Given the description of an element on the screen output the (x, y) to click on. 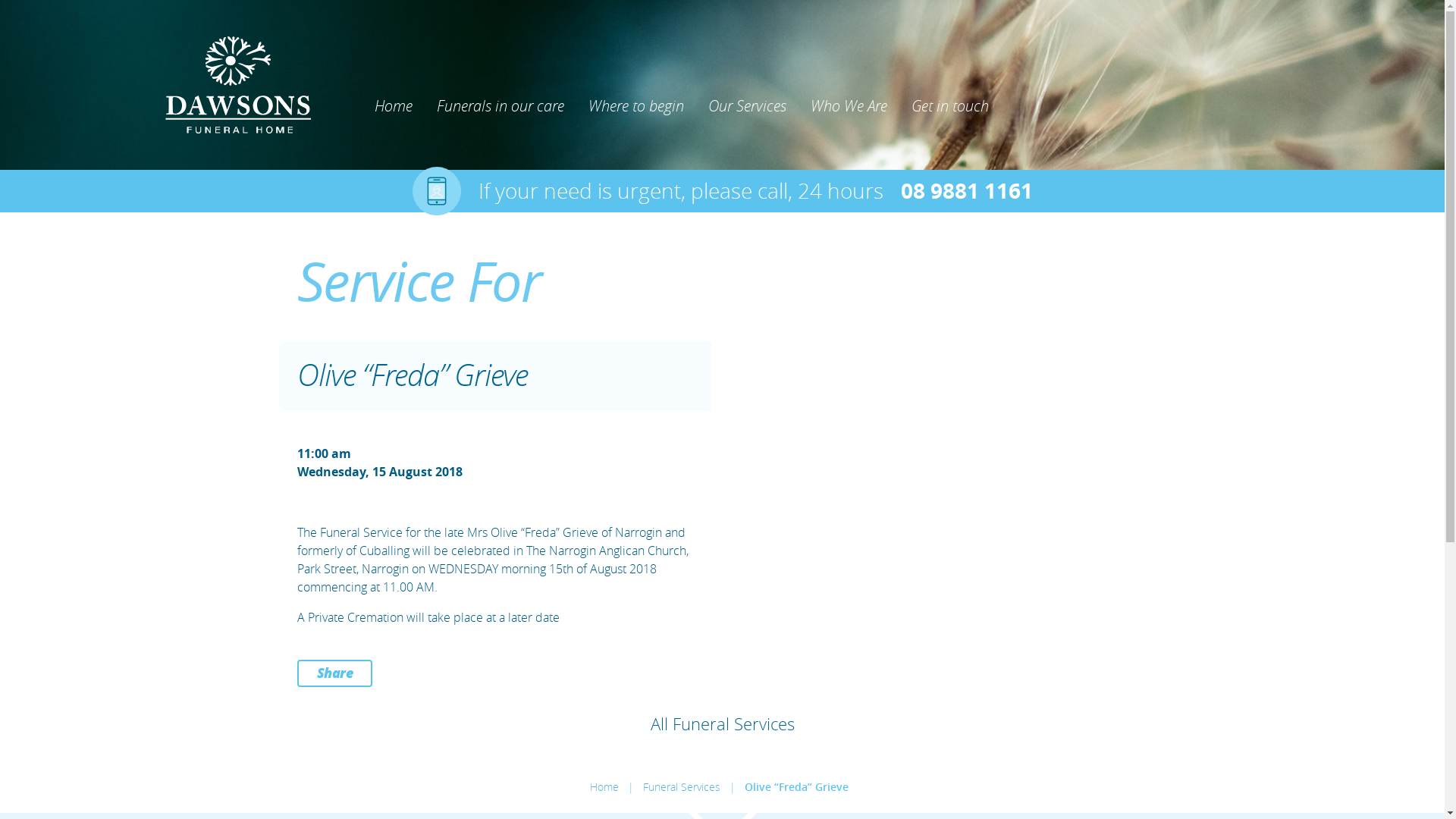
Funeral Services Element type: text (681, 786)
Our Services Element type: text (747, 105)
Who We Are Element type: text (847, 105)
Home Element type: text (393, 105)
Share Element type: text (335, 673)
All Funeral Services Element type: text (722, 723)
Funerals in our care Element type: text (500, 105)
Where to begin Element type: text (636, 105)
Home Element type: text (603, 786)
Get in touch Element type: text (950, 105)
